Given the description of an element on the screen output the (x, y) to click on. 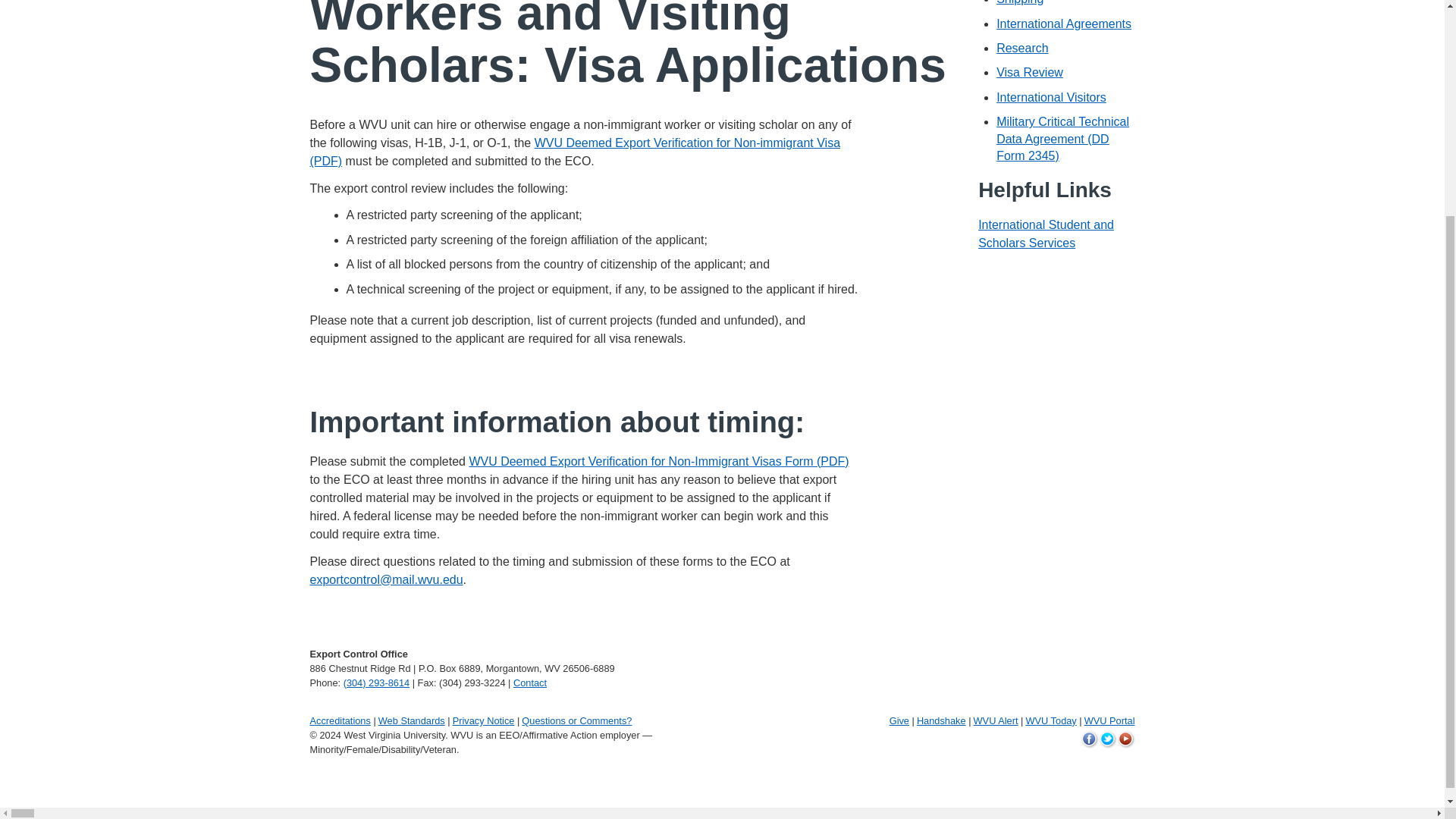
Research (1021, 47)
Visa Review (1028, 72)
Shipping (1019, 2)
International Student and Scholars Services (1045, 233)
International Agreements (1063, 23)
International Visitors (1050, 97)
